Given the description of an element on the screen output the (x, y) to click on. 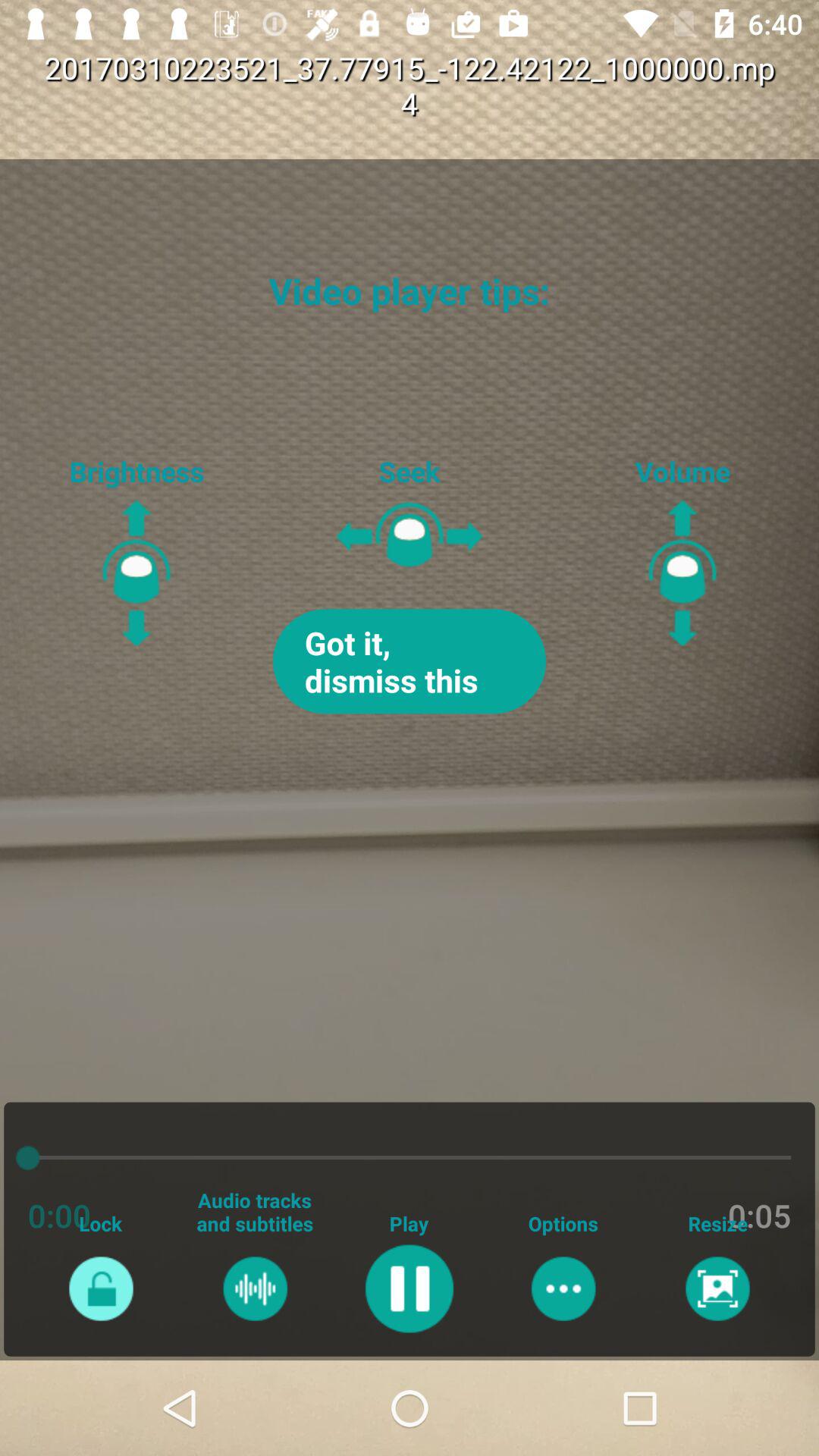
tap item to the left of volume icon (409, 661)
